Given the description of an element on the screen output the (x, y) to click on. 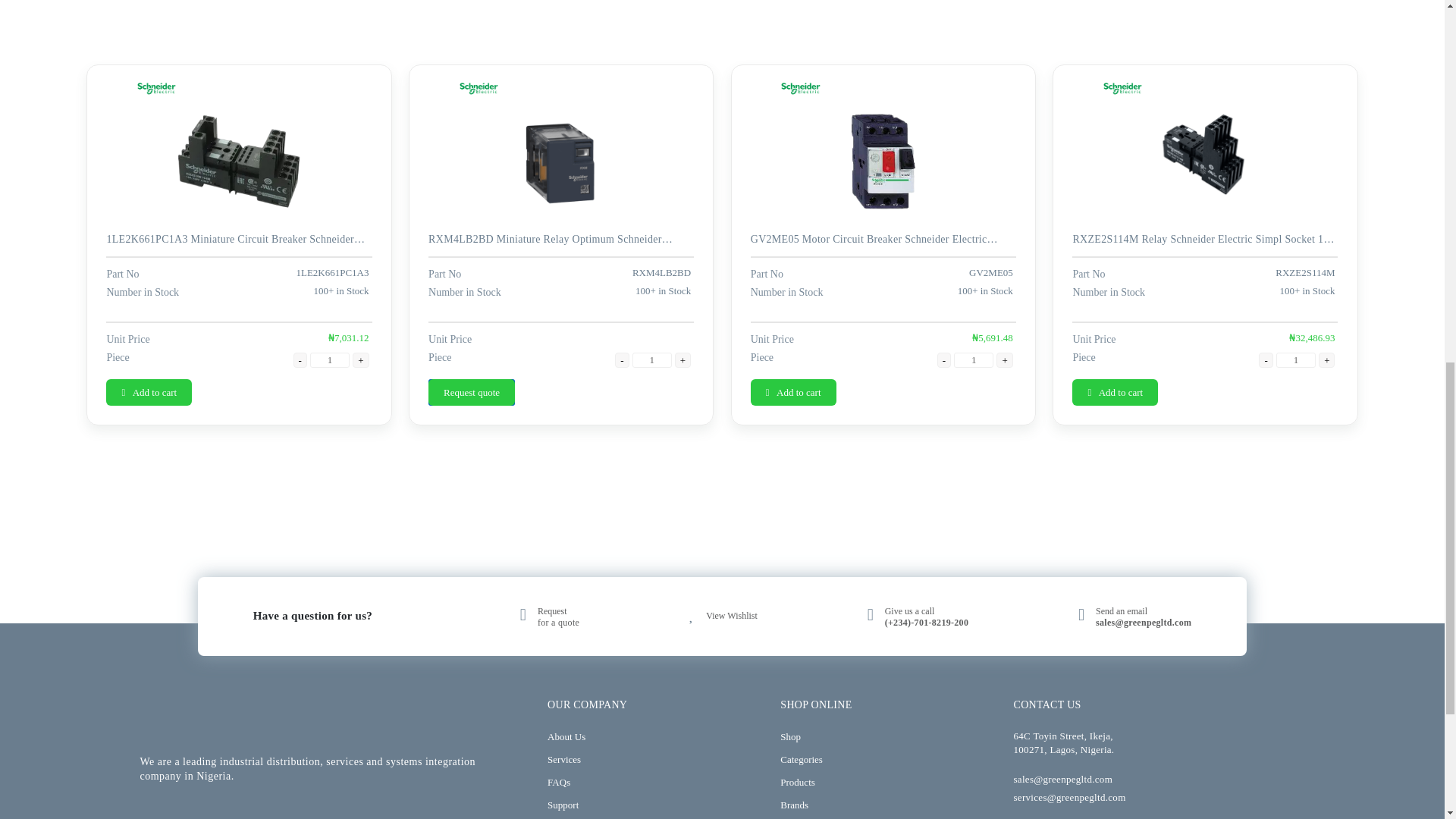
1 (1296, 359)
1 (651, 359)
1 (972, 359)
Qty (329, 359)
Qty (972, 359)
1 (329, 359)
Qty (651, 359)
Qty (1296, 359)
